Given the description of an element on the screen output the (x, y) to click on. 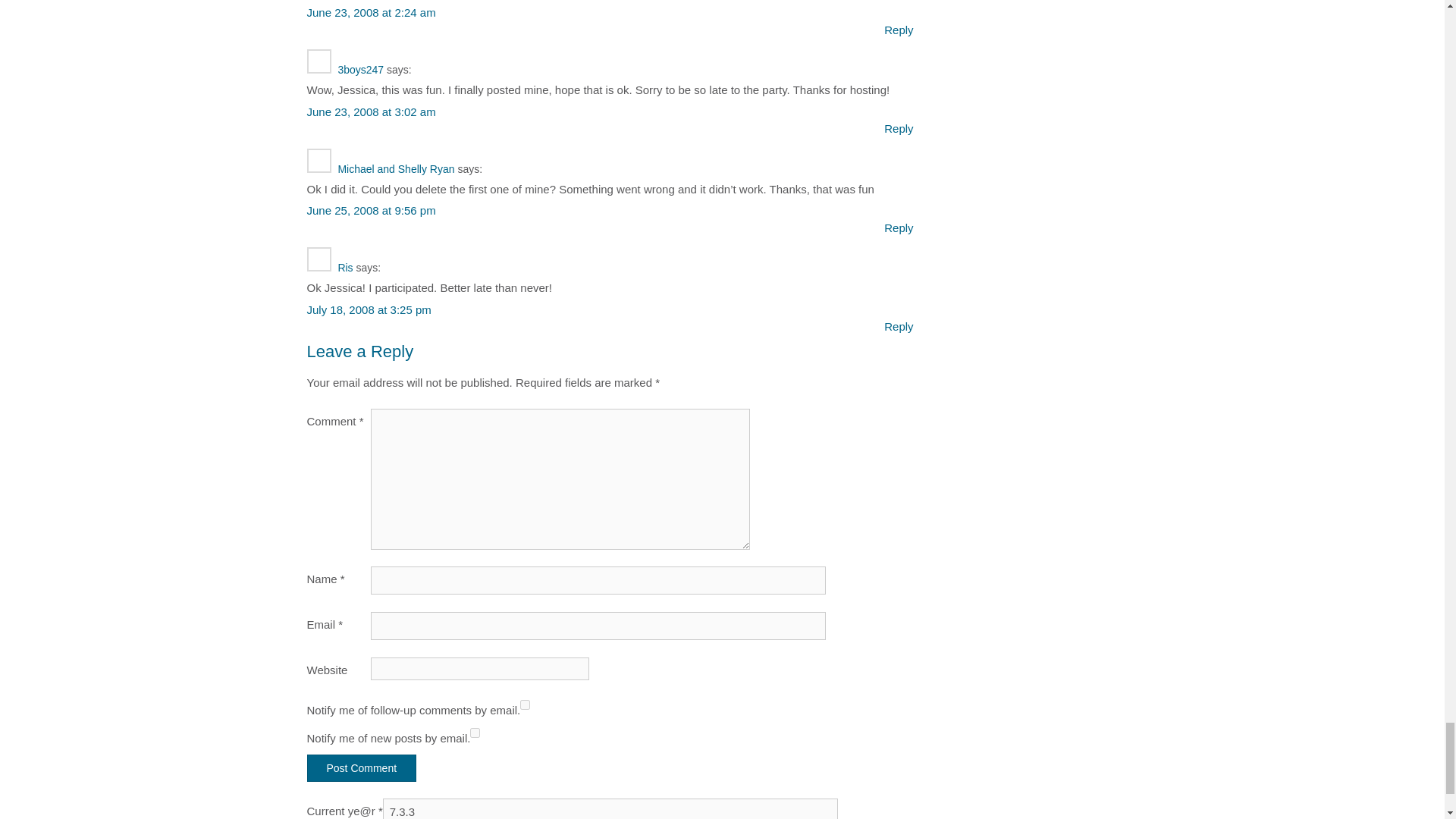
Post Comment (360, 768)
subscribe (524, 705)
subscribe (475, 732)
7.3.3 (610, 808)
